Given the description of an element on the screen output the (x, y) to click on. 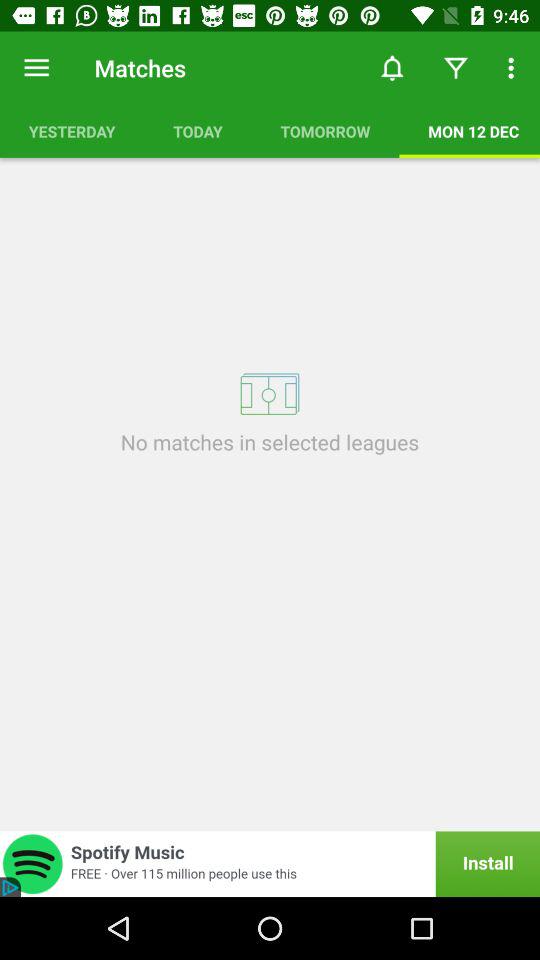
select the icon to the left of the mon 12 dec (325, 131)
